Given the description of an element on the screen output the (x, y) to click on. 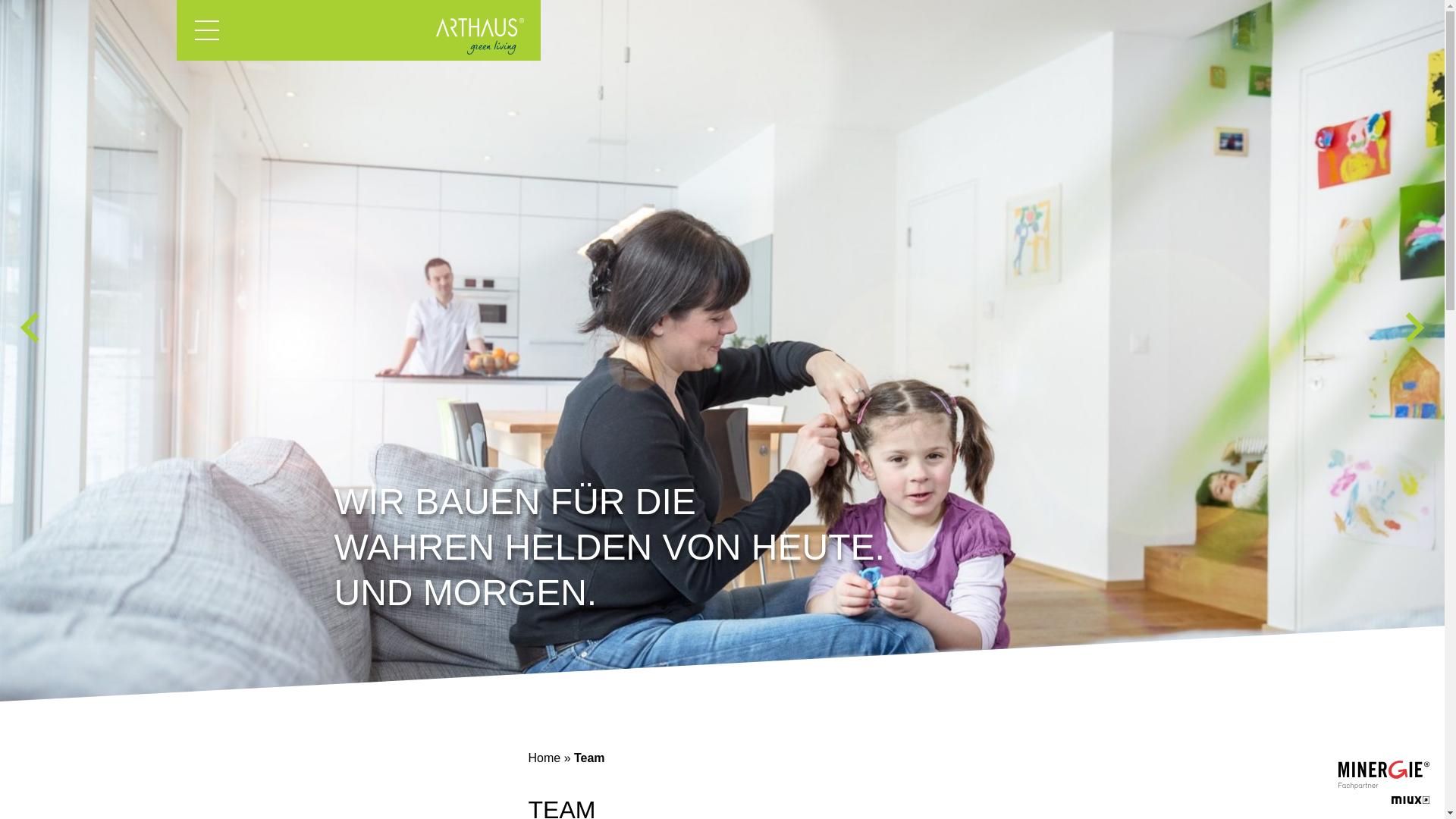
Home Element type: text (543, 757)
